Given the description of an element on the screen output the (x, y) to click on. 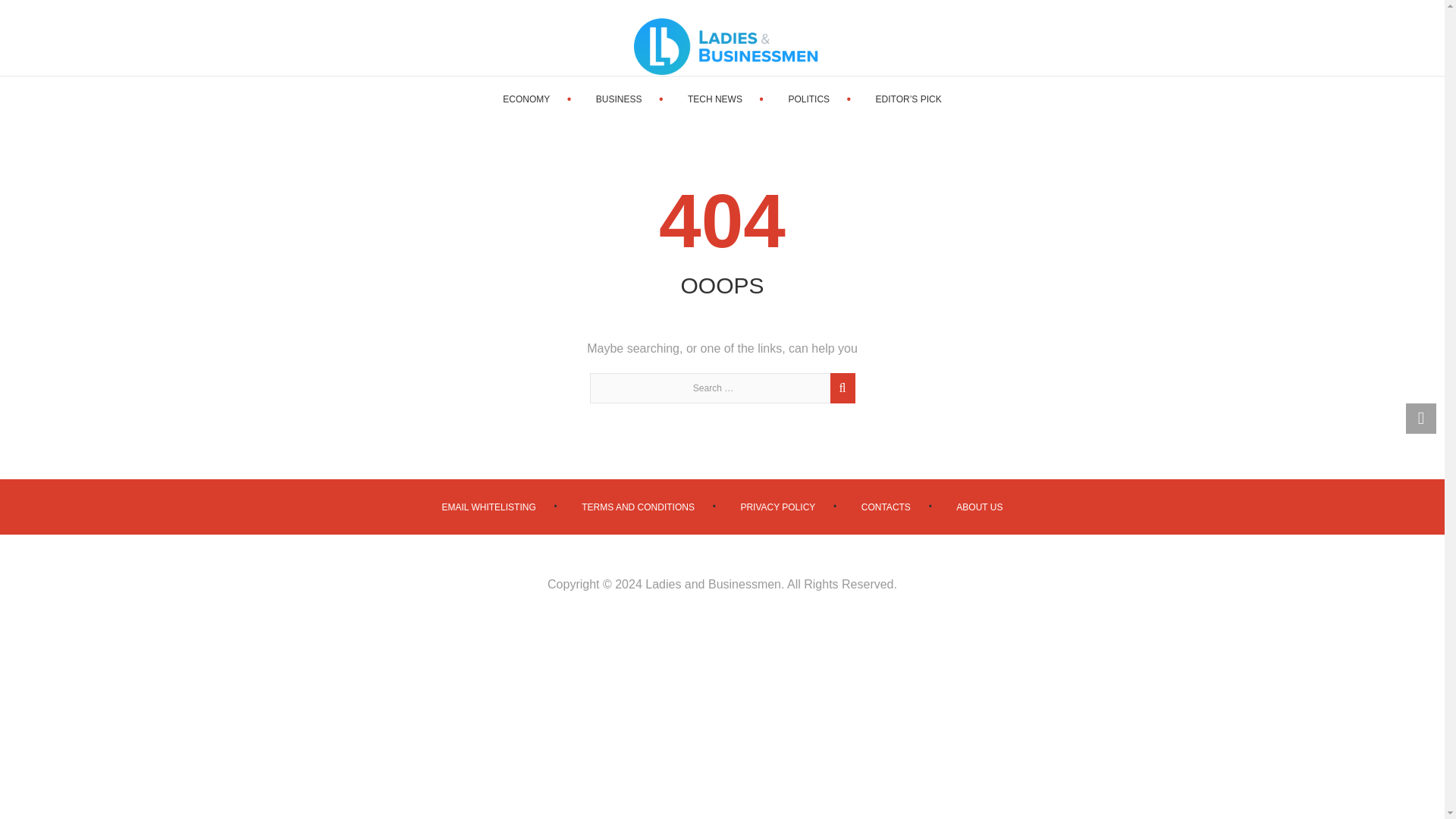
ABOUT US (979, 507)
Tech News (714, 98)
ECONOMY (526, 98)
Business (618, 98)
PRIVACY POLICY (777, 507)
Search (840, 395)
Search (1399, 37)
Politics (808, 98)
TECH NEWS (714, 98)
TERMS AND CONDITIONS (637, 507)
Search (840, 395)
EMAIL WHITELISTING (488, 507)
Economy (526, 98)
POLITICS (808, 98)
CONTACTS (886, 507)
